Given the description of an element on the screen output the (x, y) to click on. 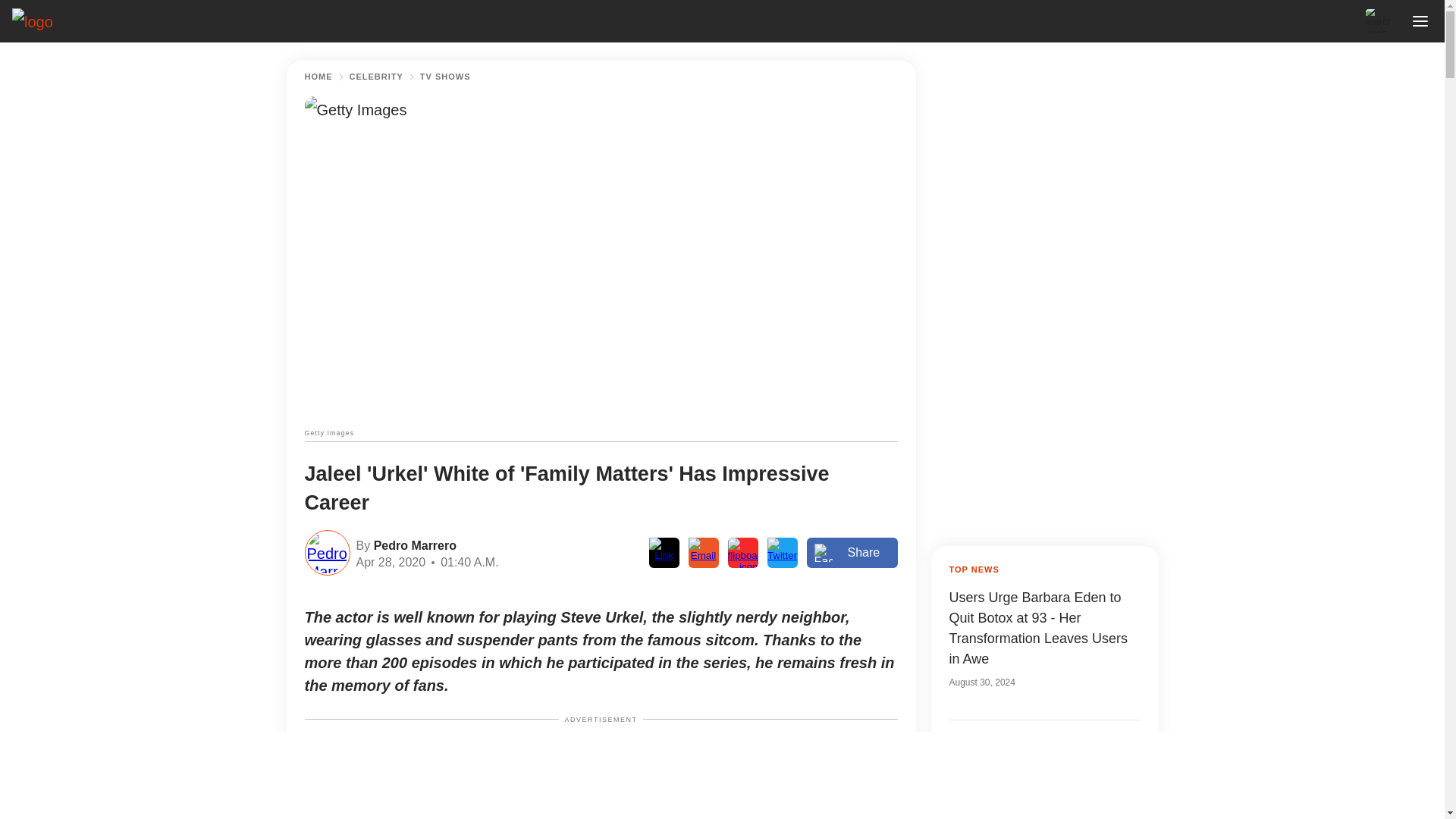
HOME (318, 76)
TV SHOWS (445, 76)
Pedro Marrero (413, 544)
CELEBRITY (376, 76)
